Given the description of an element on the screen output the (x, y) to click on. 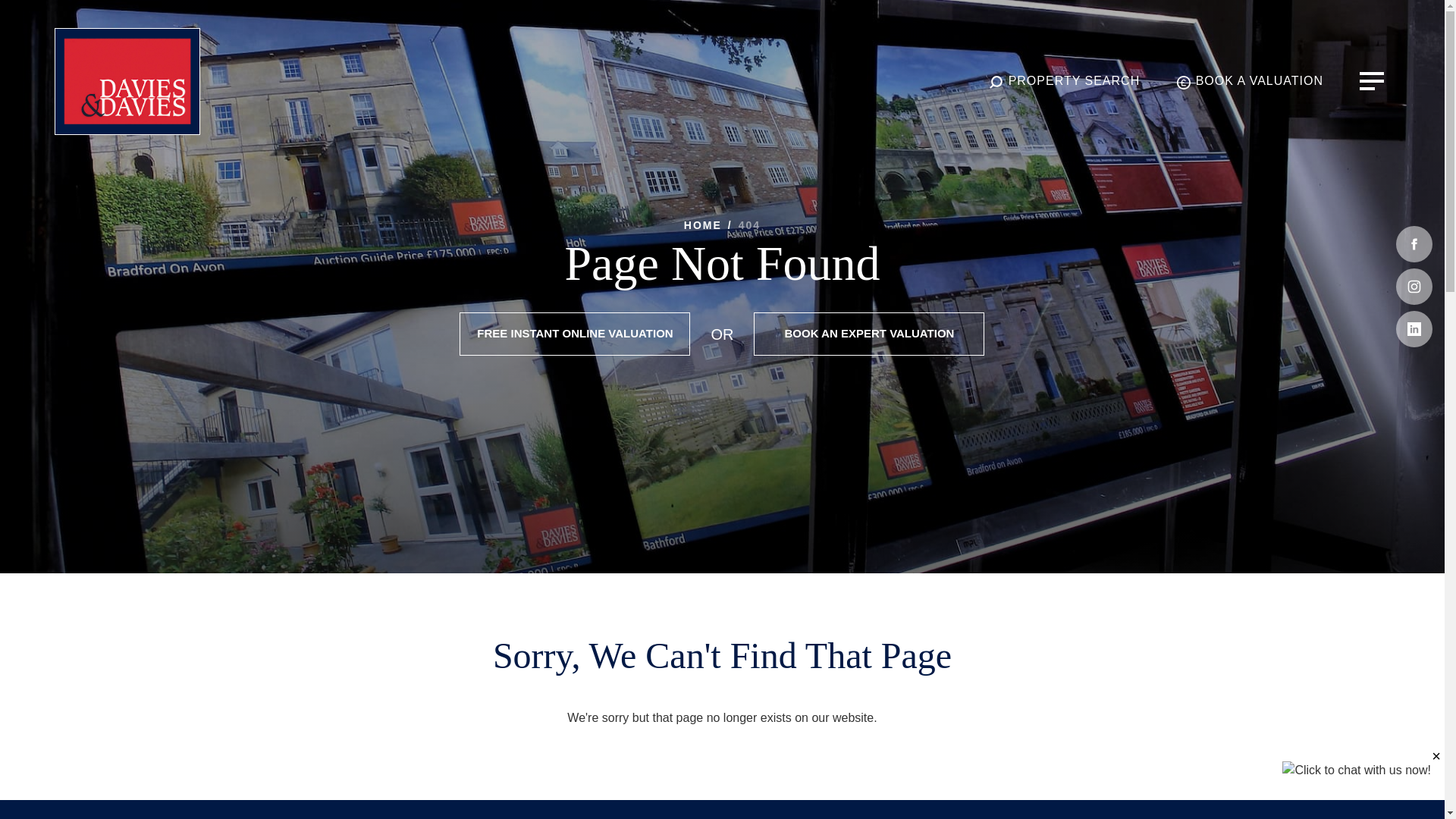
FREE INSTANT ONLINE VALUATION (575, 333)
HOME (703, 224)
BOOK A VALUATION (1249, 81)
PROPERTY SEARCH (1063, 81)
Search (1063, 81)
Menu (1372, 80)
BOOK AN EXPERT VALUATION (869, 333)
